Given the description of an element on the screen output the (x, y) to click on. 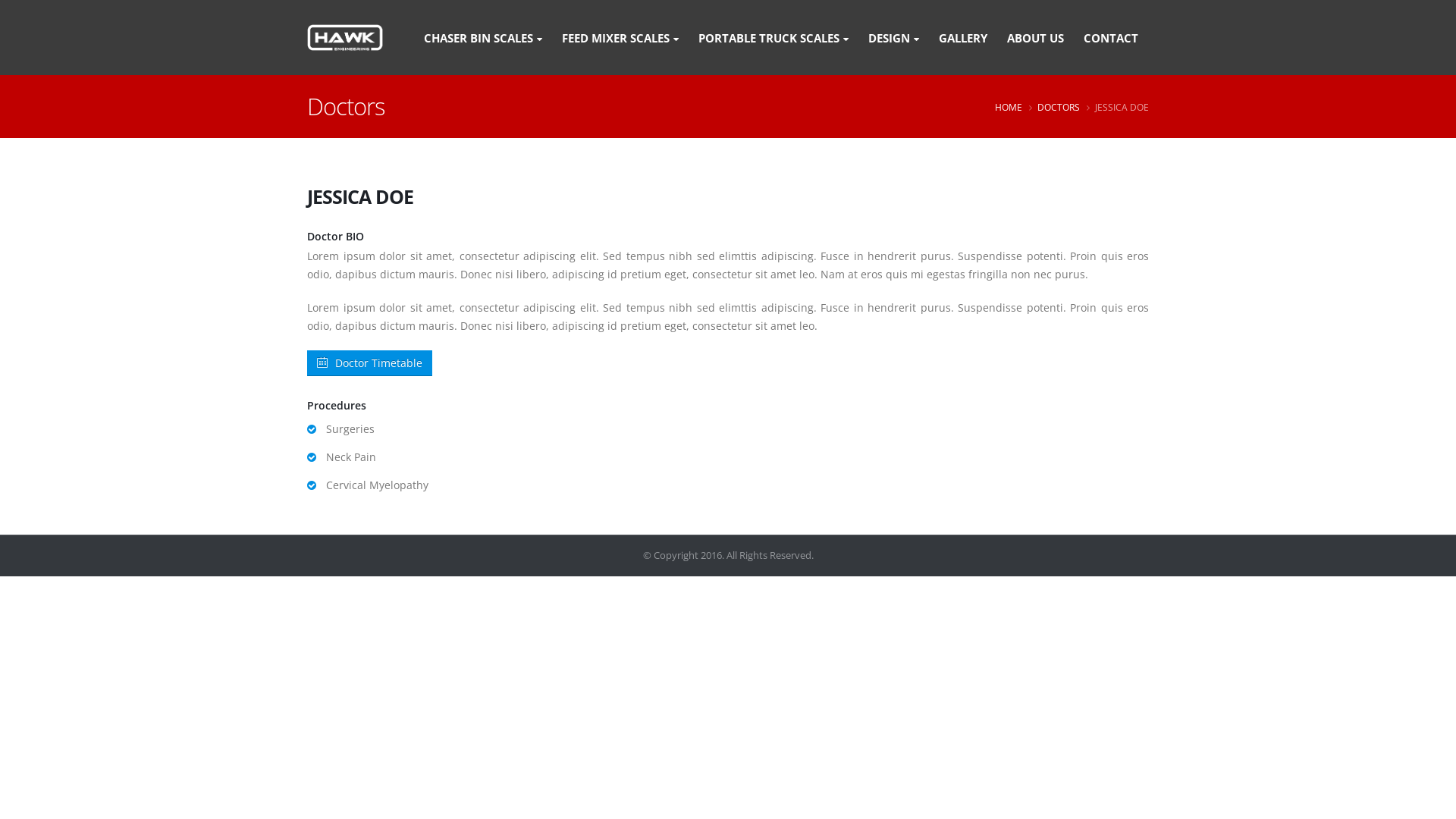
FEED MIXER SCALES Element type: text (619, 37)
CONTACT Element type: text (1110, 37)
HOME Element type: text (1008, 107)
CHASER BIN SCALES Element type: text (482, 37)
GALLERY Element type: text (962, 37)
DOCTORS Element type: text (1058, 107)
PORTABLE TRUCK SCALES Element type: text (773, 37)
Hawk Engineering -  Element type: hover (344, 37)
Doctor Timetable Element type: text (369, 363)
DESIGN Element type: text (893, 37)
ABOUT US Element type: text (1035, 37)
